Given the description of an element on the screen output the (x, y) to click on. 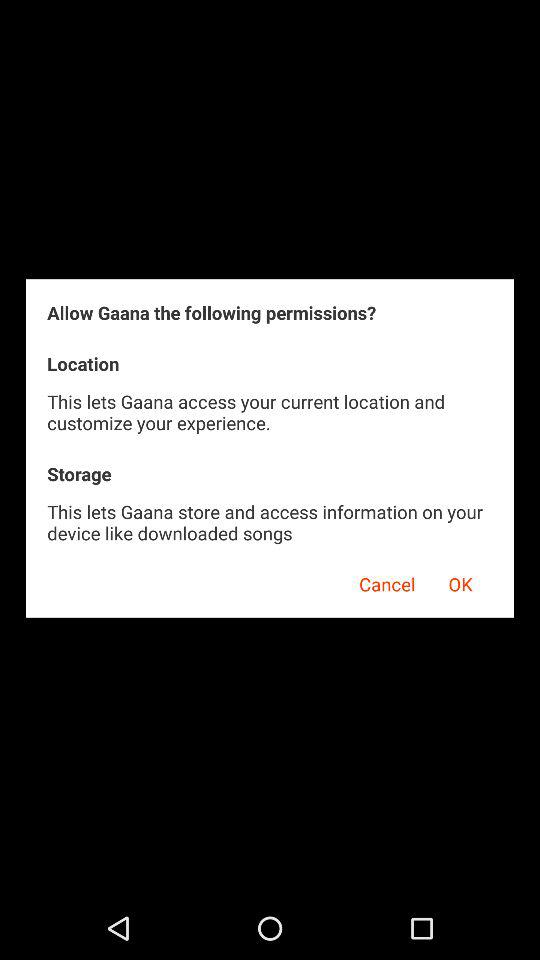
choose the item next to cancel (460, 581)
